Given the description of an element on the screen output the (x, y) to click on. 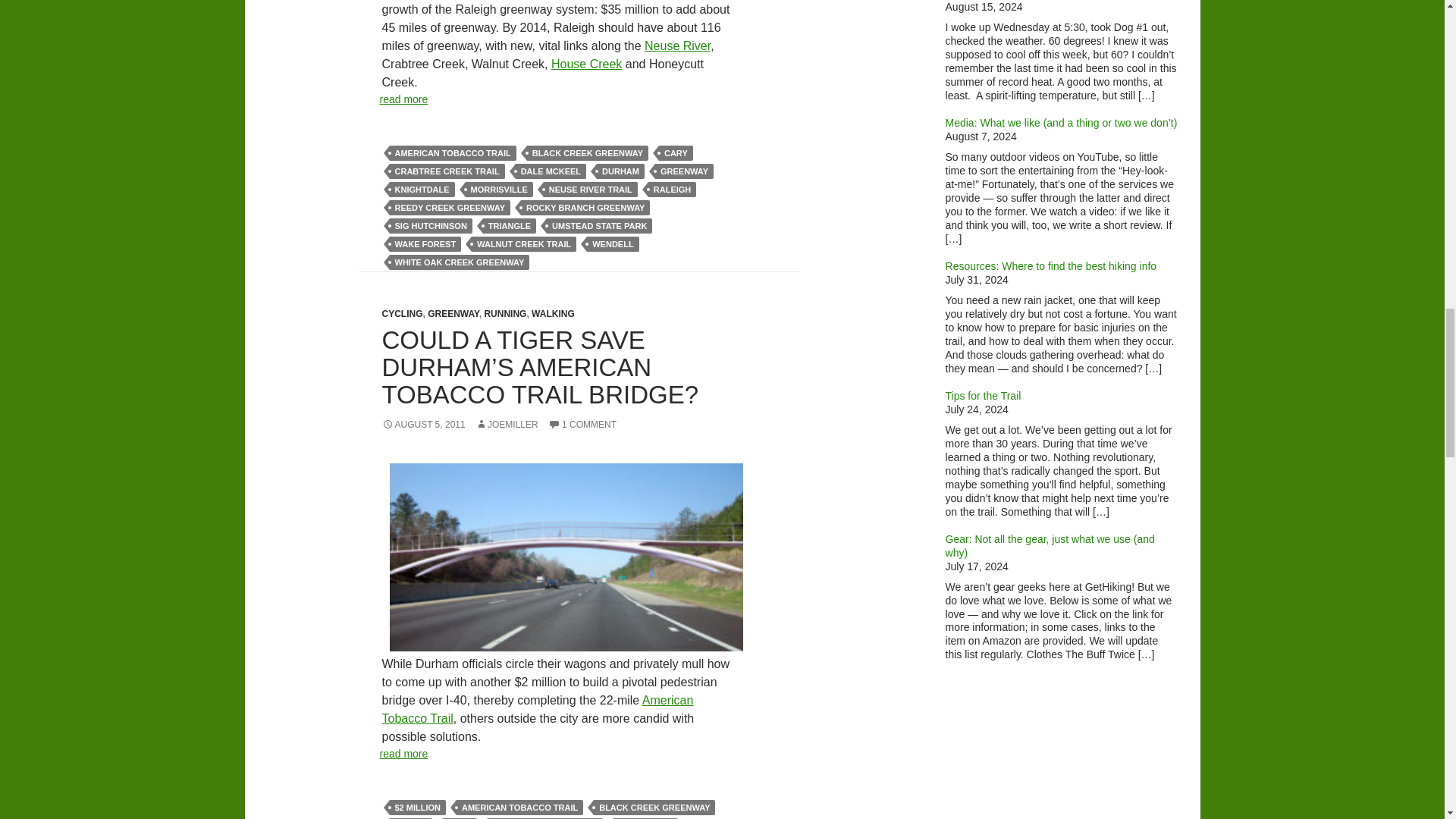
House Creek (586, 63)
CARY (676, 152)
Neuse River (677, 45)
AMERICAN TOBACCO TRAIL (453, 152)
DALE MCKEEL (550, 171)
American Tobacco Trail (537, 708)
CRABTREE CREEK TRAIL (447, 171)
read more (403, 99)
BLACK CREEK GREENWAY (587, 152)
